Given the description of an element on the screen output the (x, y) to click on. 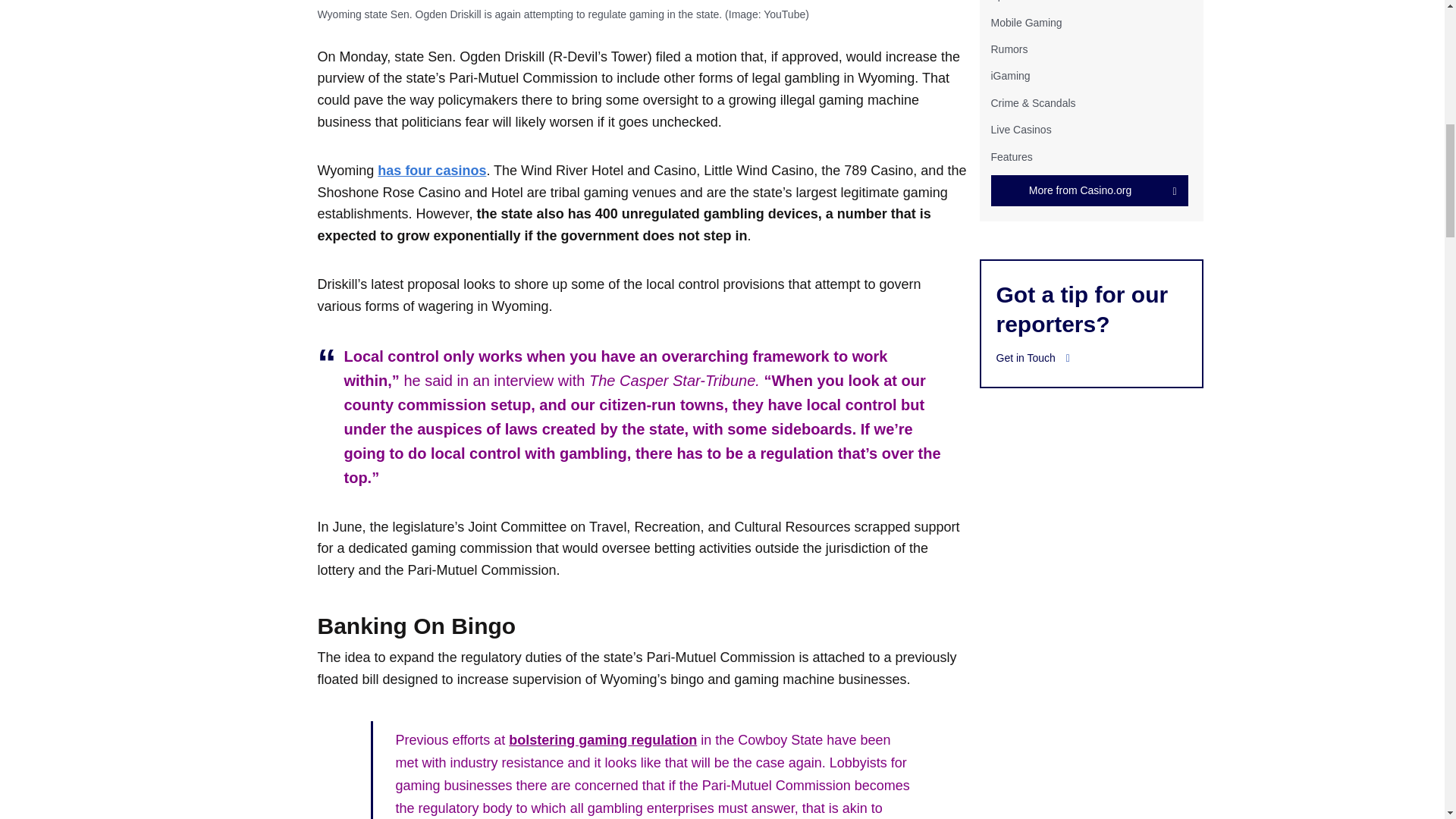
Mobile Gaming (1025, 22)
Live Casinos (1020, 129)
bolstering gaming regulation (602, 739)
Sports (1005, 0)
Features (1011, 155)
has four casinos (431, 170)
Rumors (1008, 49)
iGaming (1009, 75)
